Given the description of an element on the screen output the (x, y) to click on. 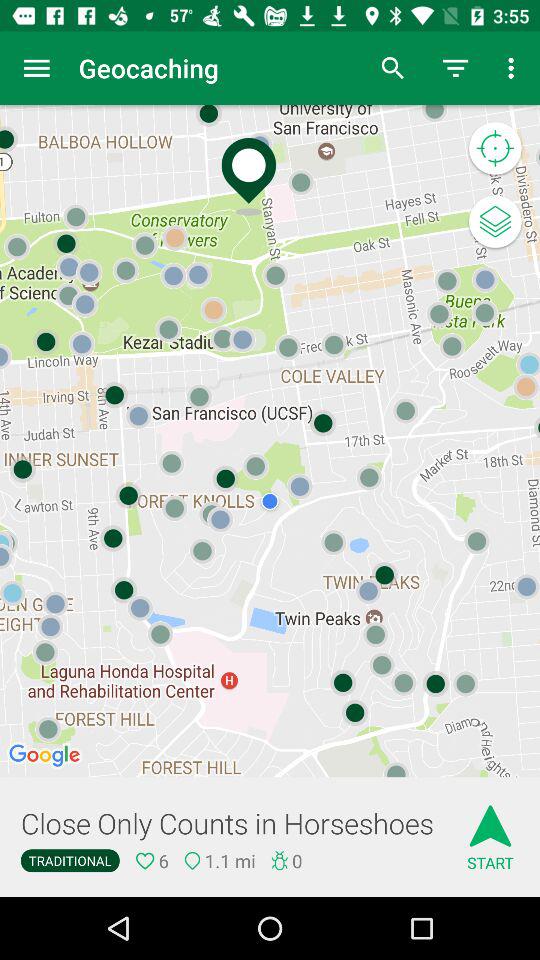
flip until the traditional (70, 860)
